Given the description of an element on the screen output the (x, y) to click on. 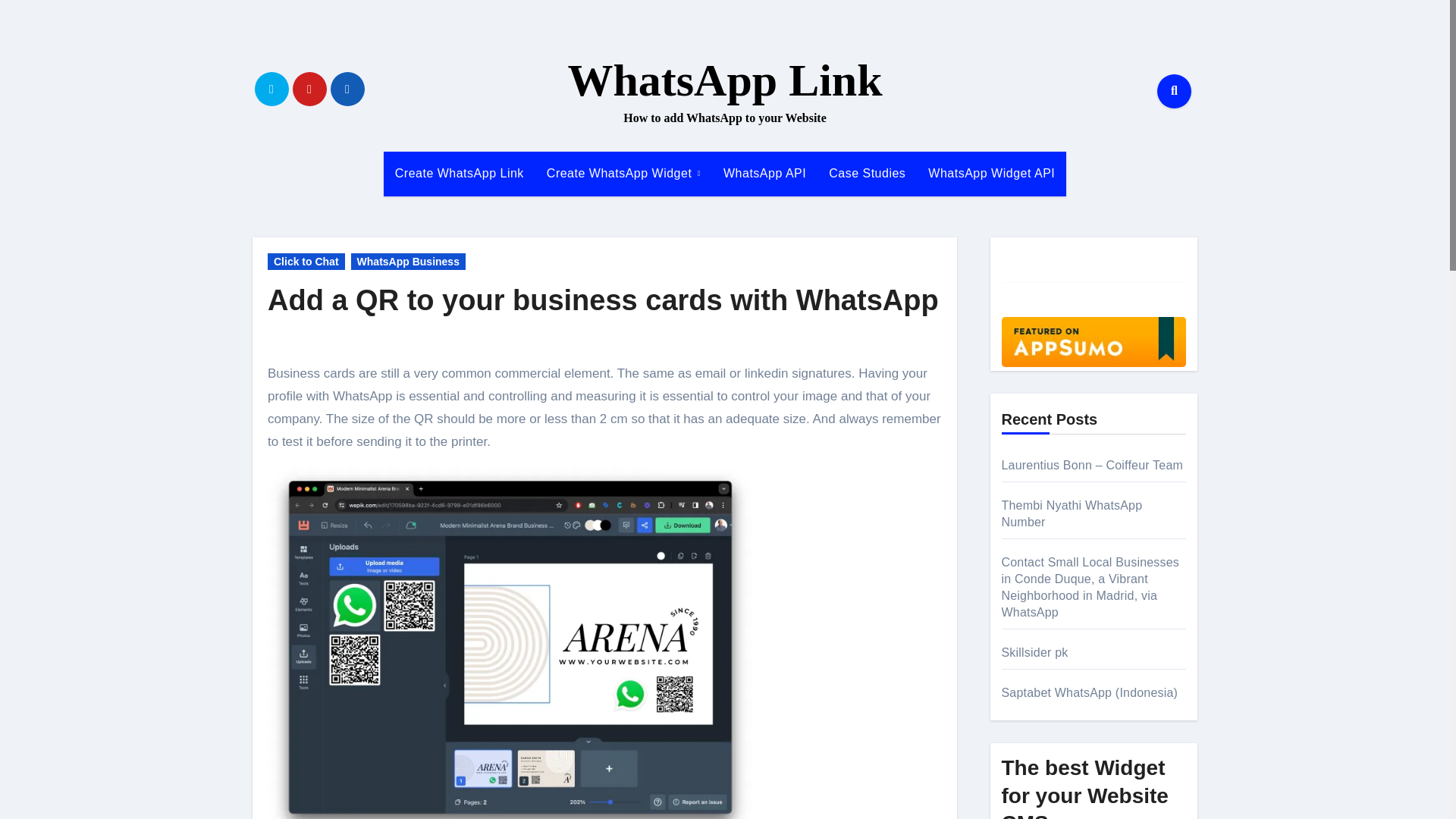
Create WhatsApp Widget (623, 173)
Create WhatsApp Link (459, 173)
WhatsApp Widget API (991, 173)
WhatsApp Business (407, 261)
WhatsApp API (763, 173)
Add a QR to your business cards with WhatsApp (603, 300)
WhatsApp Link (724, 80)
Create WhatsApp Widget (623, 173)
Create WhatsApp Link (459, 173)
Click to Chat (306, 261)
Case Studies (866, 173)
